Given the description of an element on the screen output the (x, y) to click on. 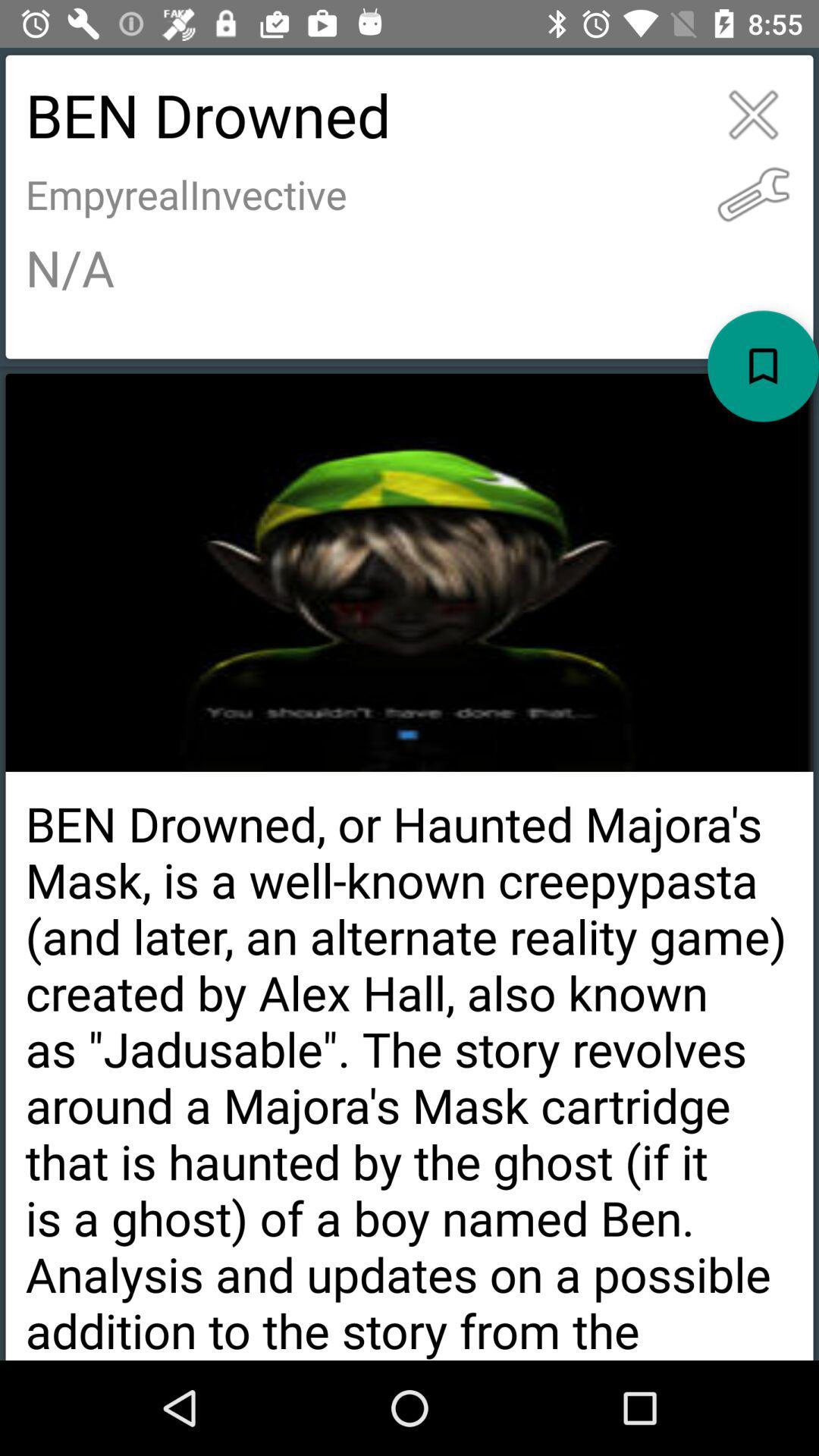
change settings (753, 194)
